Given the description of an element on the screen output the (x, y) to click on. 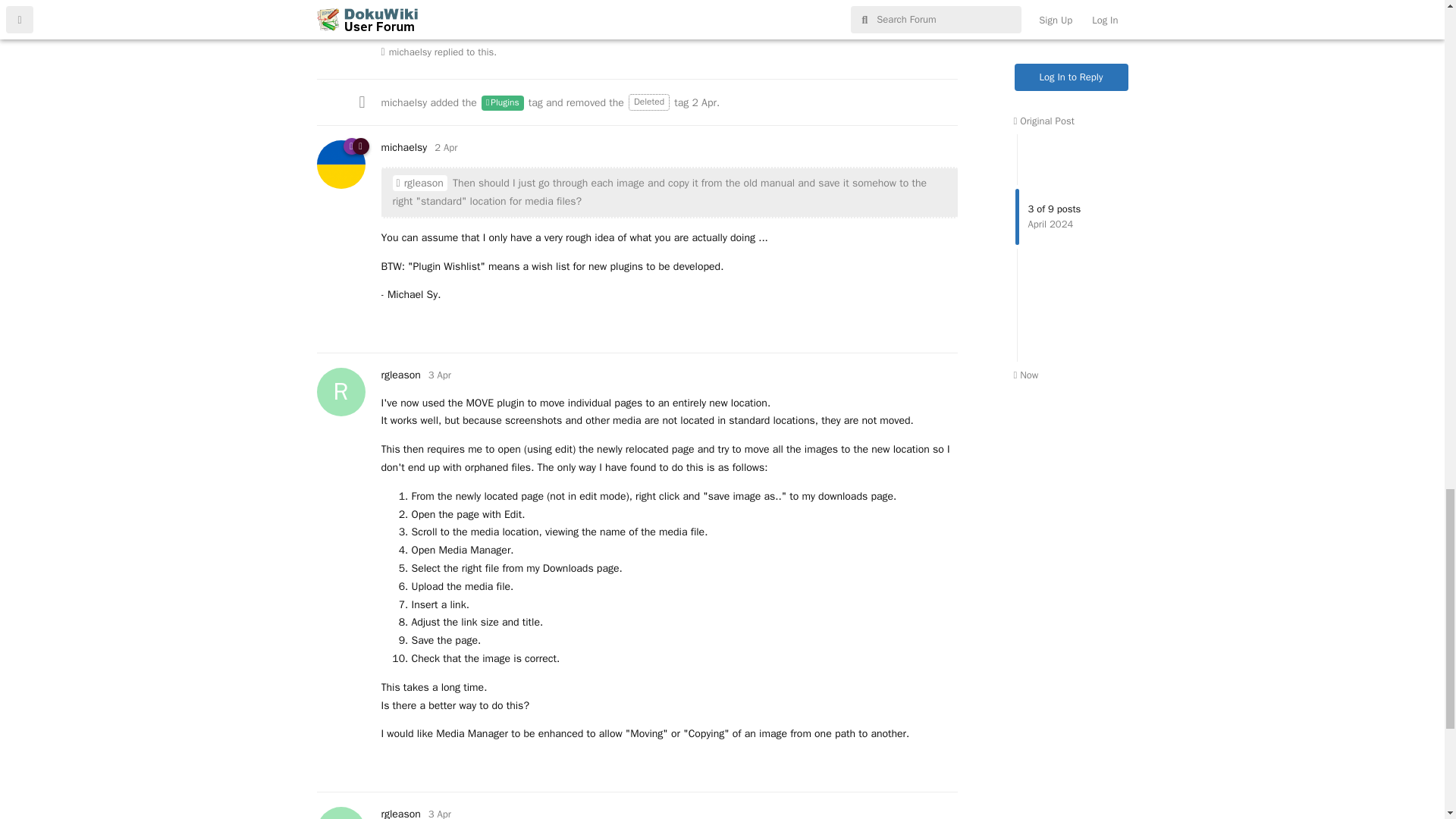
Plugins (502, 102)
Deleted (648, 102)
michaelsy (403, 102)
michaelsy (409, 52)
